Given the description of an element on the screen output the (x, y) to click on. 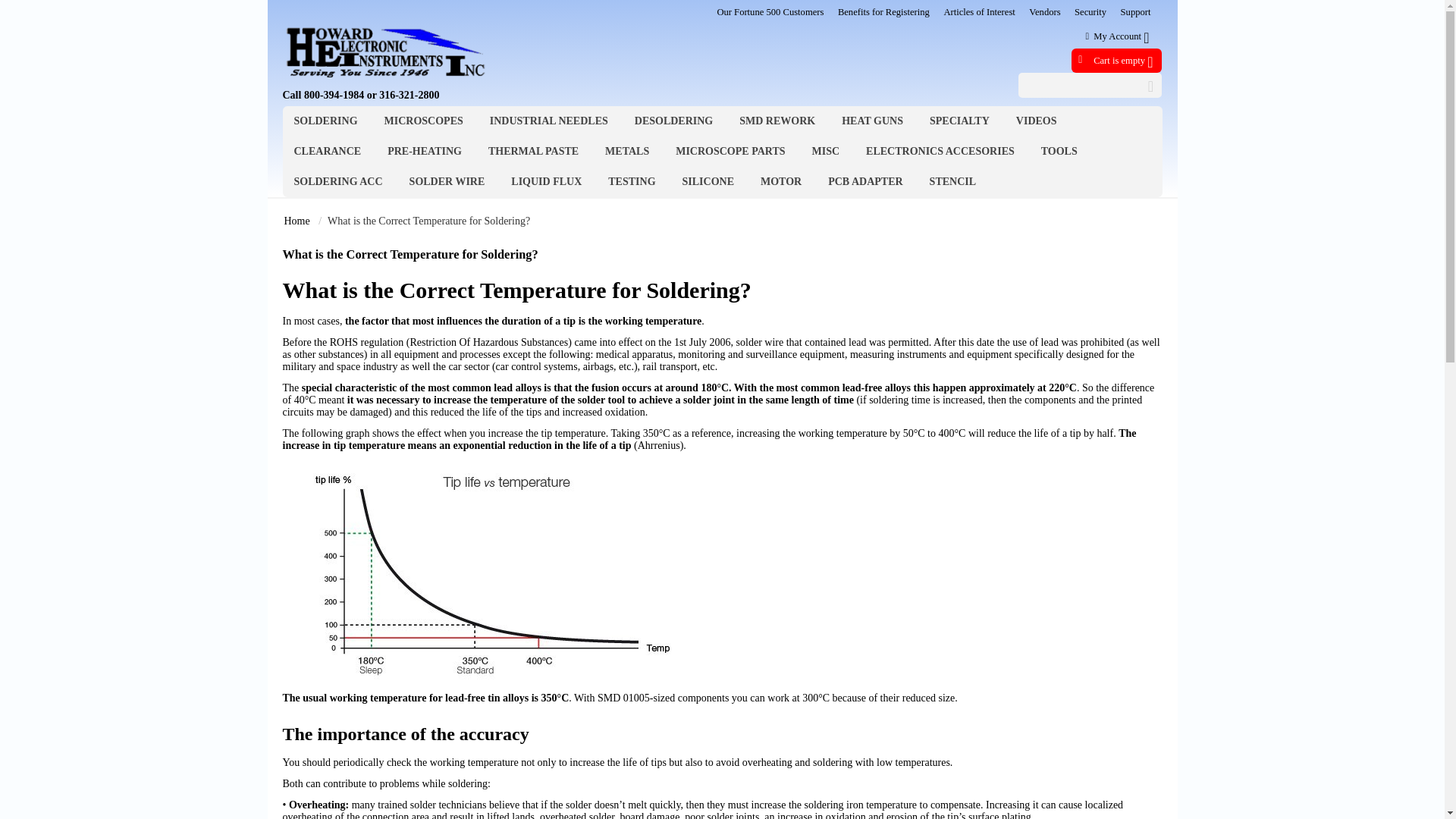
Howard Electronic Instruments, Inc. serving you since 1946 (384, 50)
SPECIALTY (959, 121)
Our Fortune 500 Customers (770, 11)
HEAT GUNS (871, 121)
MICROSCOPES (423, 121)
Search (1089, 84)
VIDEOS (1036, 121)
Security (1090, 11)
Vendors (1044, 11)
Support (1136, 11)
